Given the description of an element on the screen output the (x, y) to click on. 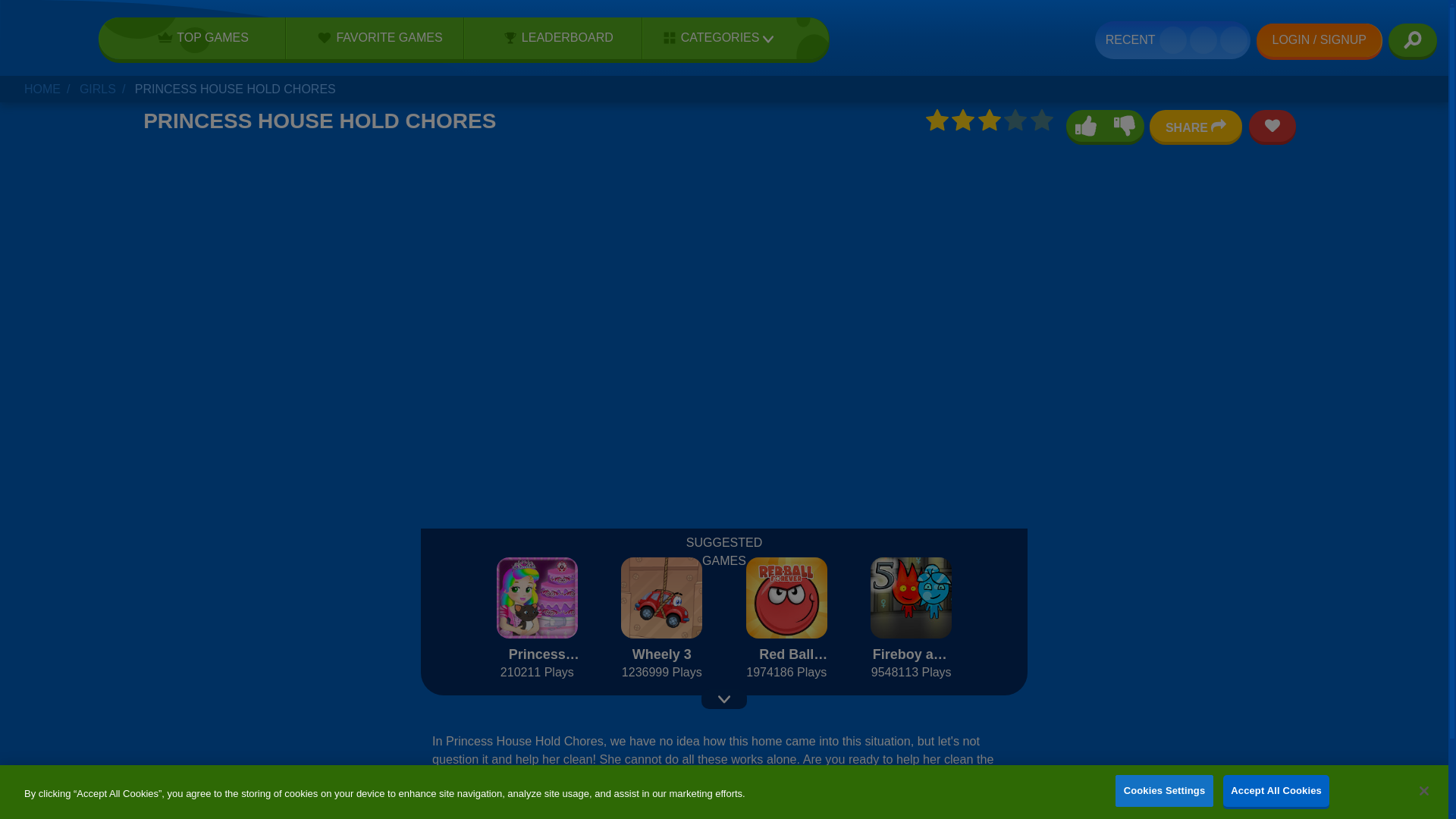
LEADERBOARD (553, 37)
CATEGORIES (712, 38)
TOP GAMES (197, 37)
FAVORITE GAMES (374, 37)
